Given the description of an element on the screen output the (x, y) to click on. 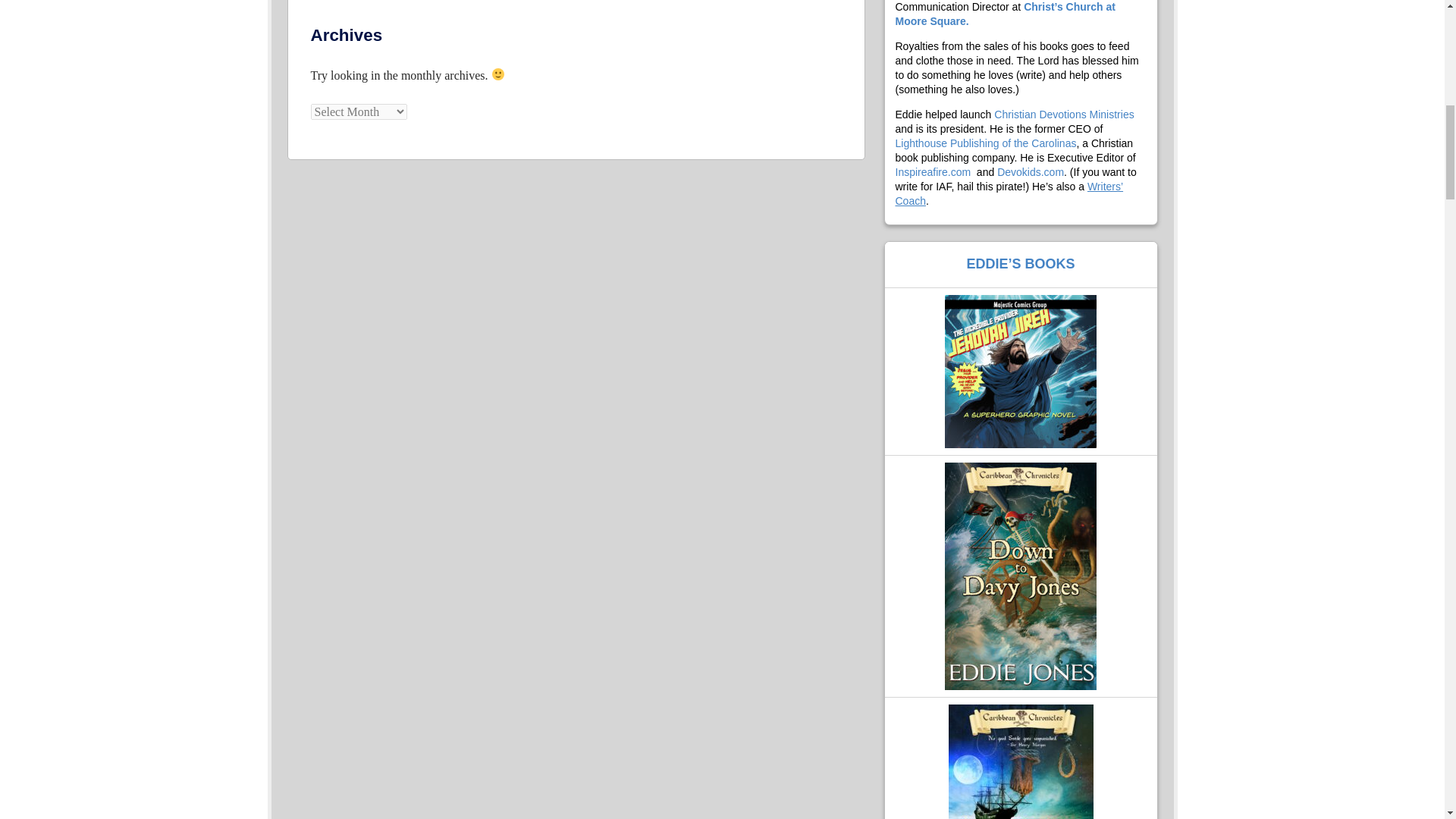
Christian Devotions Ministries (1064, 114)
Inspireafire.com (933, 172)
Lighthouse Publishing of the Carolinas (985, 143)
Devokids.com (1030, 172)
